Given the description of an element on the screen output the (x, y) to click on. 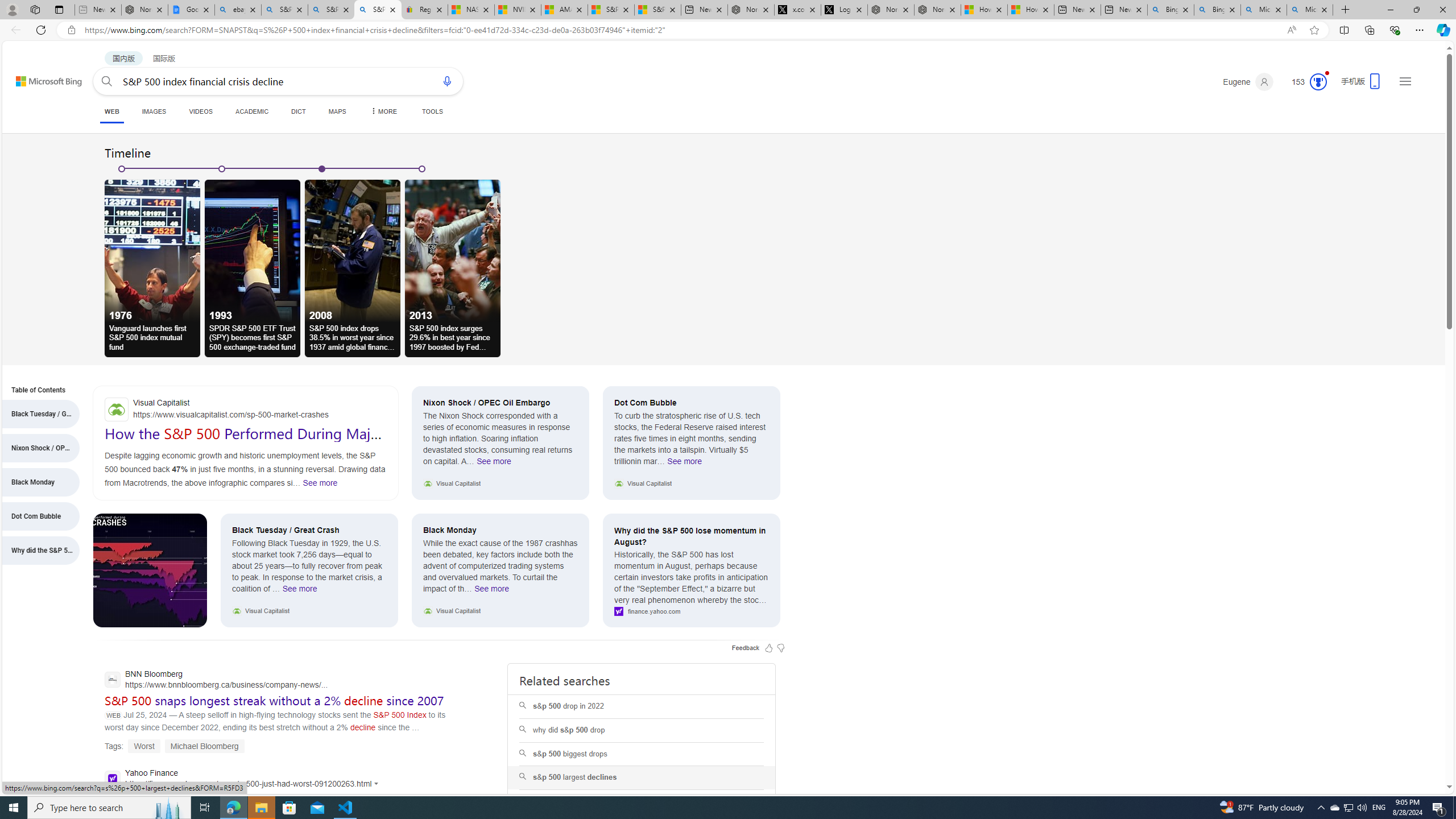
1976 1976 Vanguard launches first S&P 500 index mutual fund (152, 268)
Yahoo Finance (244, 779)
s&p 500 drop in 2022 (641, 707)
Bing AI - Search (1216, 9)
Back to Bing search (41, 78)
s&p 500 biggest drops (641, 753)
Why did the S&P 500 lose momentum in August? (691, 535)
Class: medal-circled (1317, 81)
See more Nixon Shock / OPEC Oil Embargo (493, 463)
